Given the description of an element on the screen output the (x, y) to click on. 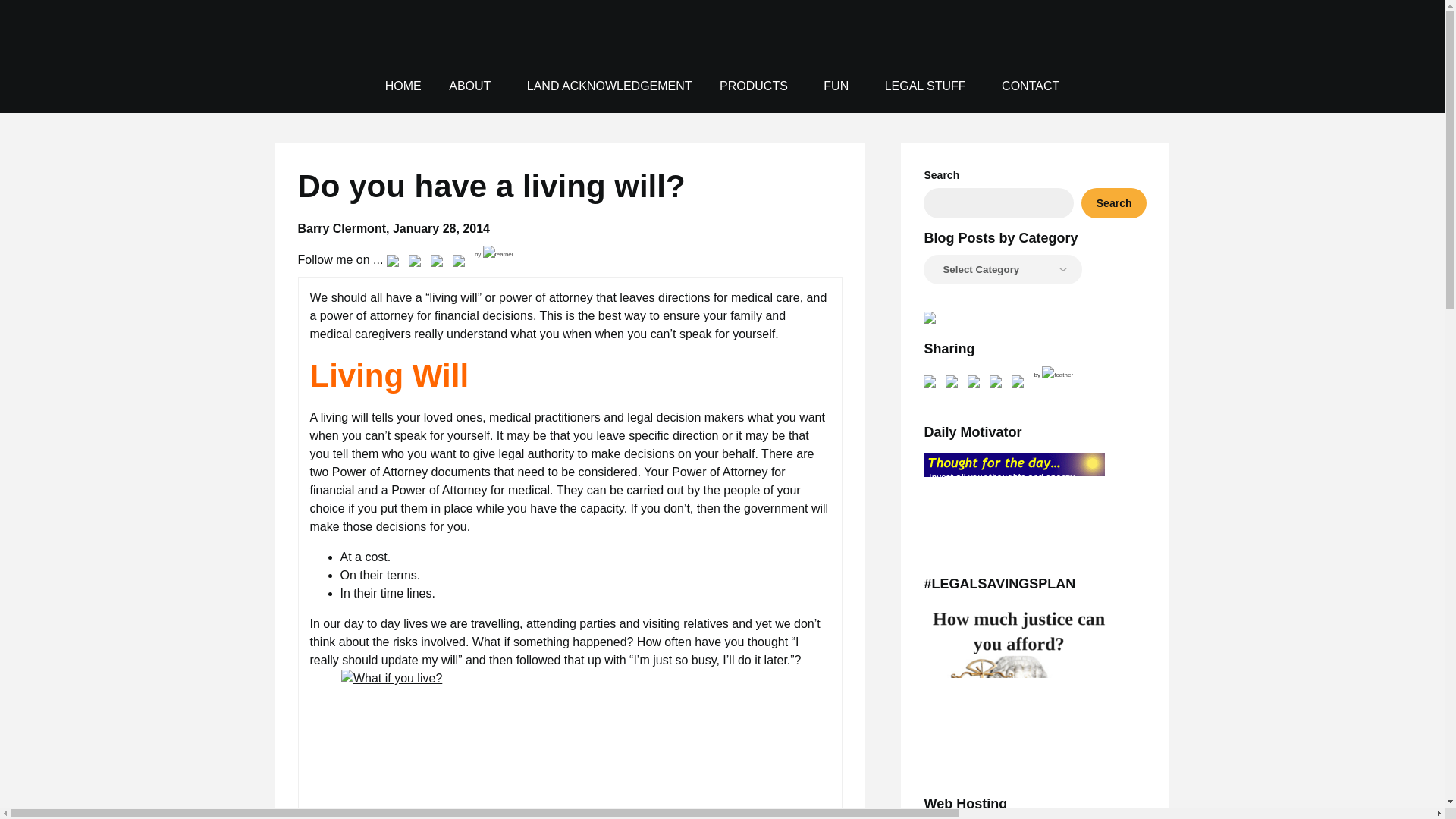
Follow me on Facebook (392, 263)
Follow me on Facebook (395, 263)
My Pinterest Boards (436, 263)
Follow me on Twitter (417, 263)
Follow me on Twitter (414, 263)
LAND ACKNOWLEDGEMENT (609, 86)
Find me on LinkedIn ...  (458, 263)
My Pinterest Boards (439, 263)
WordPress Social Media Feather (493, 253)
PRODUCTS (753, 86)
Find me on LinkedIn ...  (461, 263)
Barry Clermont (1089, 51)
FUN (835, 86)
ABOUT (469, 86)
LEGAL STUFF (925, 86)
